Given the description of an element on the screen output the (x, y) to click on. 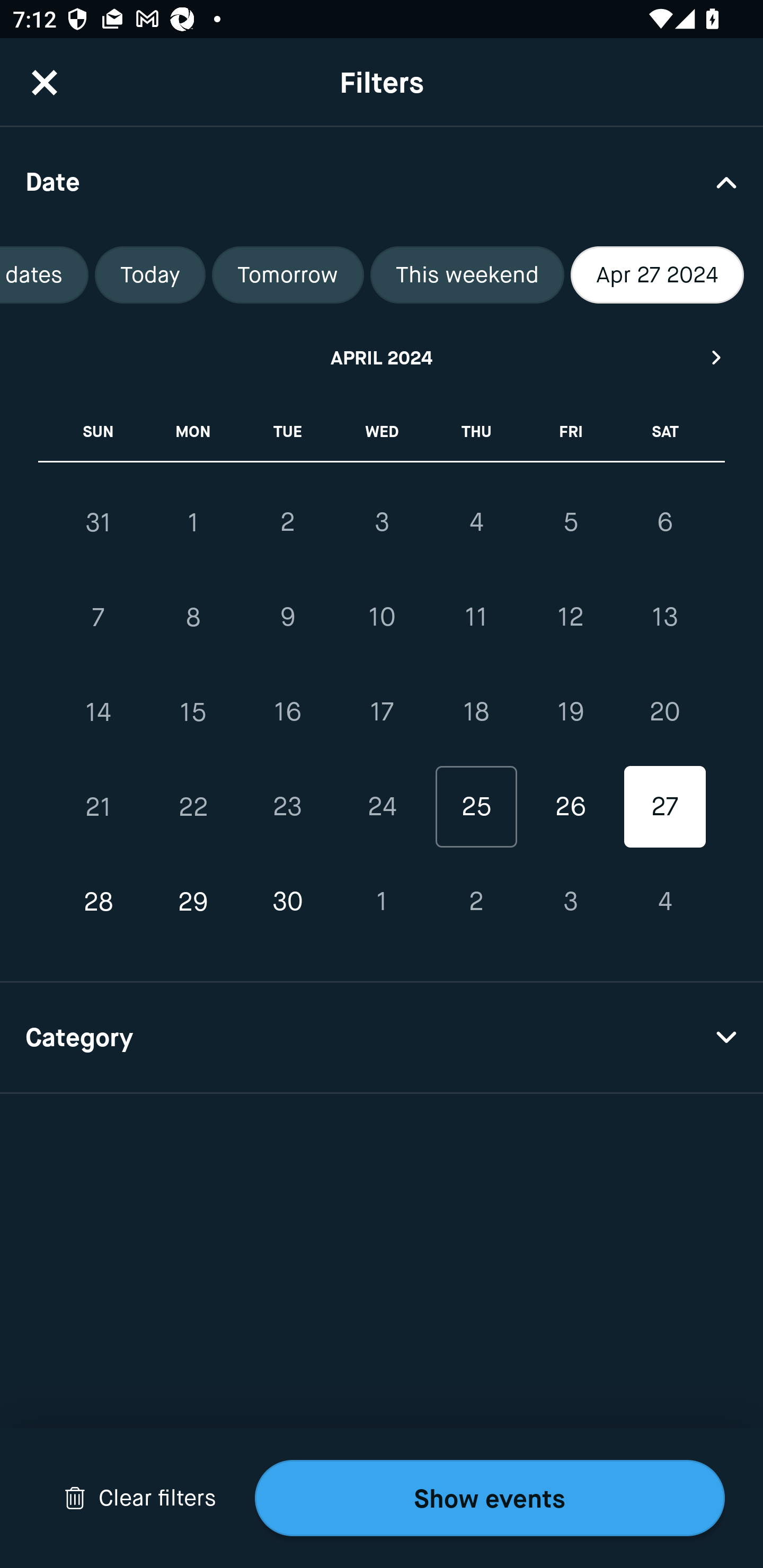
CloseButton (44, 82)
Date Drop Down Arrow (381, 181)
All dates (44, 274)
Today (149, 274)
Tomorrow (287, 274)
This weekend (467, 274)
Apr 27 2024 (656, 274)
Next (717, 357)
31 (98, 522)
1 (192, 522)
2 (287, 522)
3 (381, 522)
4 (475, 522)
5 (570, 522)
6 (664, 522)
7 (98, 617)
8 (192, 617)
9 (287, 617)
10 (381, 617)
11 (475, 617)
12 (570, 617)
13 (664, 617)
14 (98, 711)
15 (192, 711)
16 (287, 711)
17 (381, 711)
18 (475, 711)
19 (570, 711)
20 (664, 711)
21 (98, 806)
22 (192, 806)
23 (287, 806)
24 (381, 806)
25 (475, 806)
26 (570, 806)
27 (664, 806)
28 (98, 901)
29 (192, 901)
30 (287, 901)
1 (381, 901)
2 (475, 901)
3 (570, 901)
4 (664, 901)
Category Drop Down Arrow (381, 1038)
Drop Down Arrow Clear filters (139, 1497)
Show events (489, 1497)
